Given the description of an element on the screen output the (x, y) to click on. 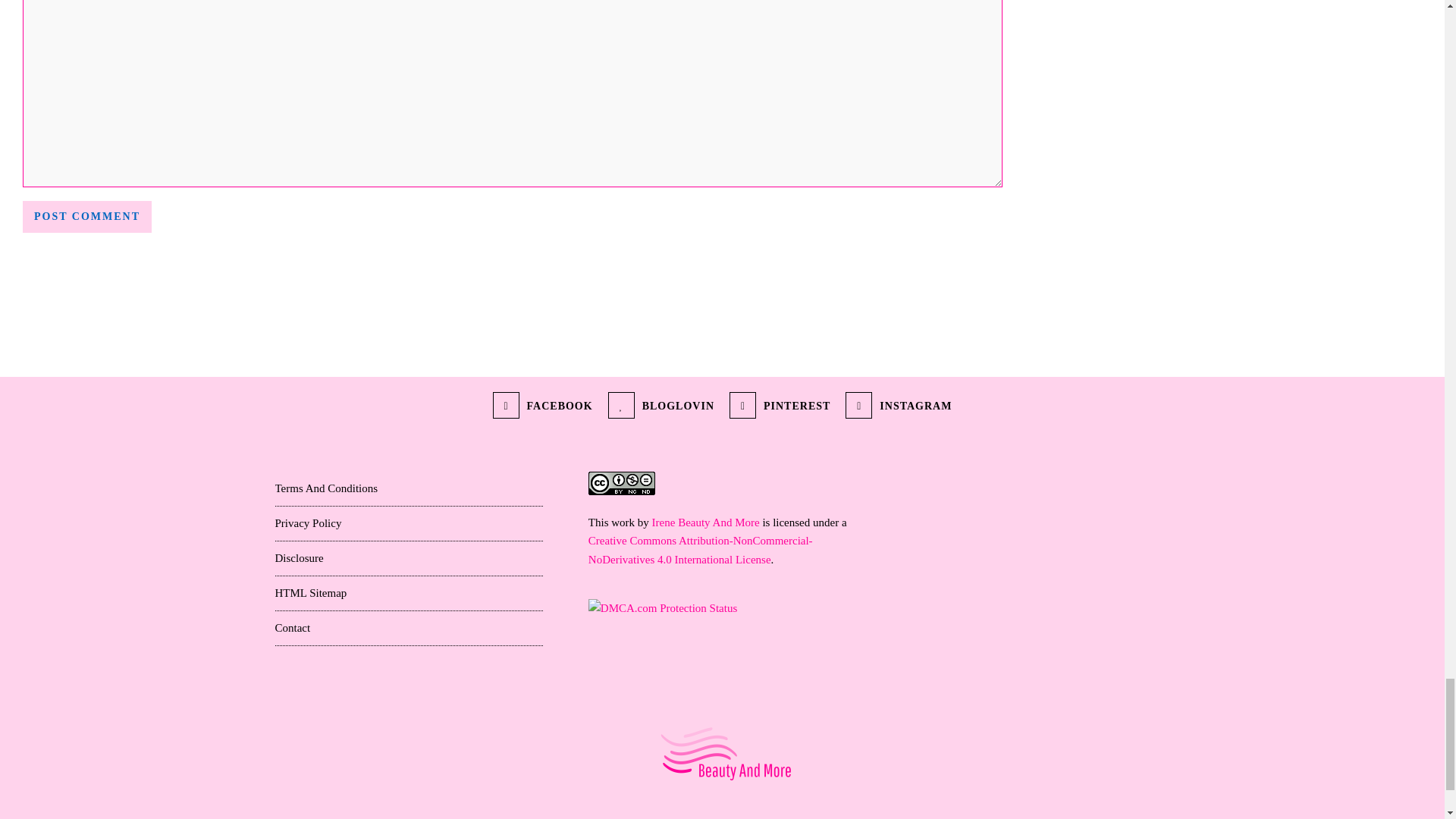
Post Comment (87, 216)
